Given the description of an element on the screen output the (x, y) to click on. 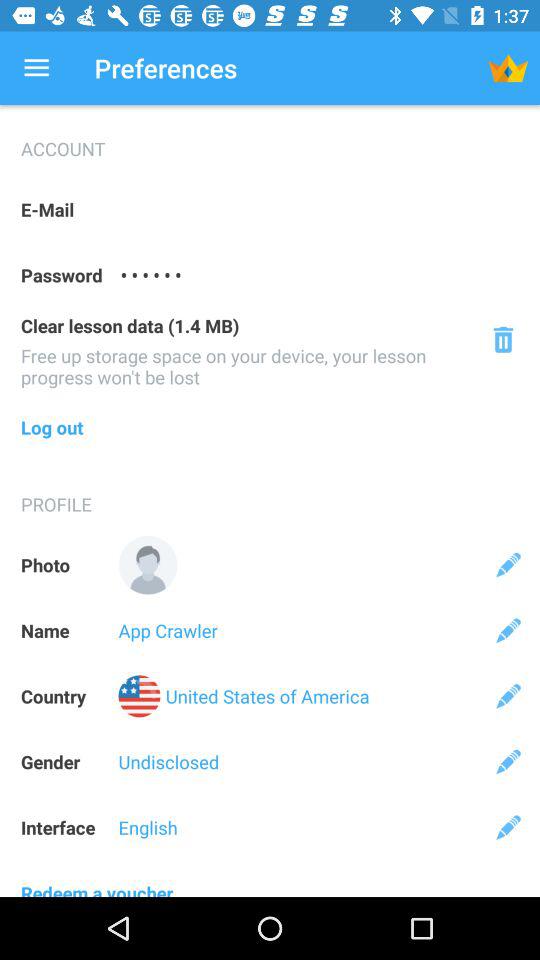
press item below ...... item (502, 339)
